Given the description of an element on the screen output the (x, y) to click on. 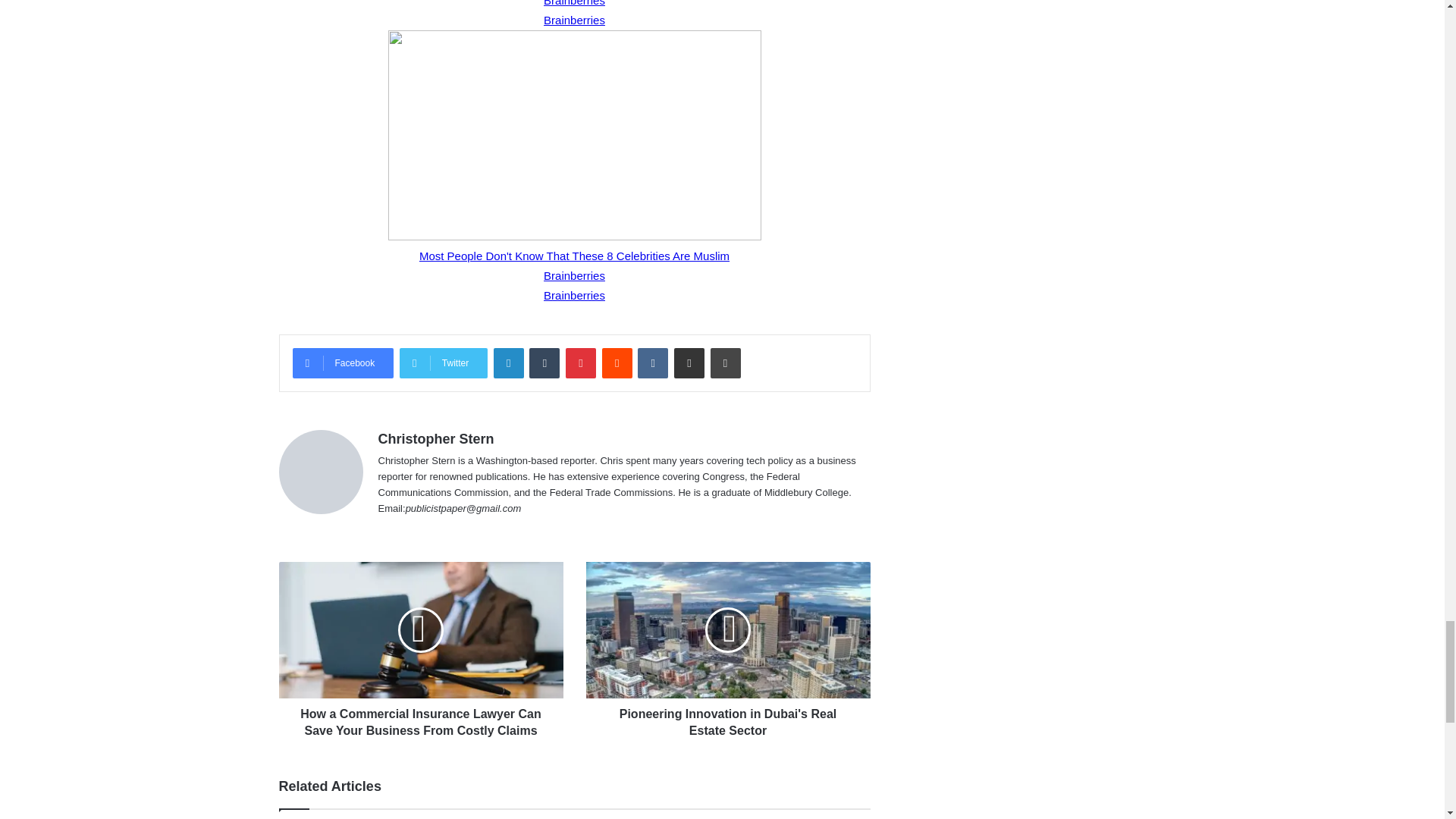
LinkedIn (508, 363)
Christopher Stern (435, 438)
Print (725, 363)
Tumblr (544, 363)
Tumblr (544, 363)
Pioneering Innovation in Dubai's Real Estate Sector (727, 718)
Twitter (442, 363)
VKontakte (652, 363)
VKontakte (652, 363)
Twitter (442, 363)
